Given the description of an element on the screen output the (x, y) to click on. 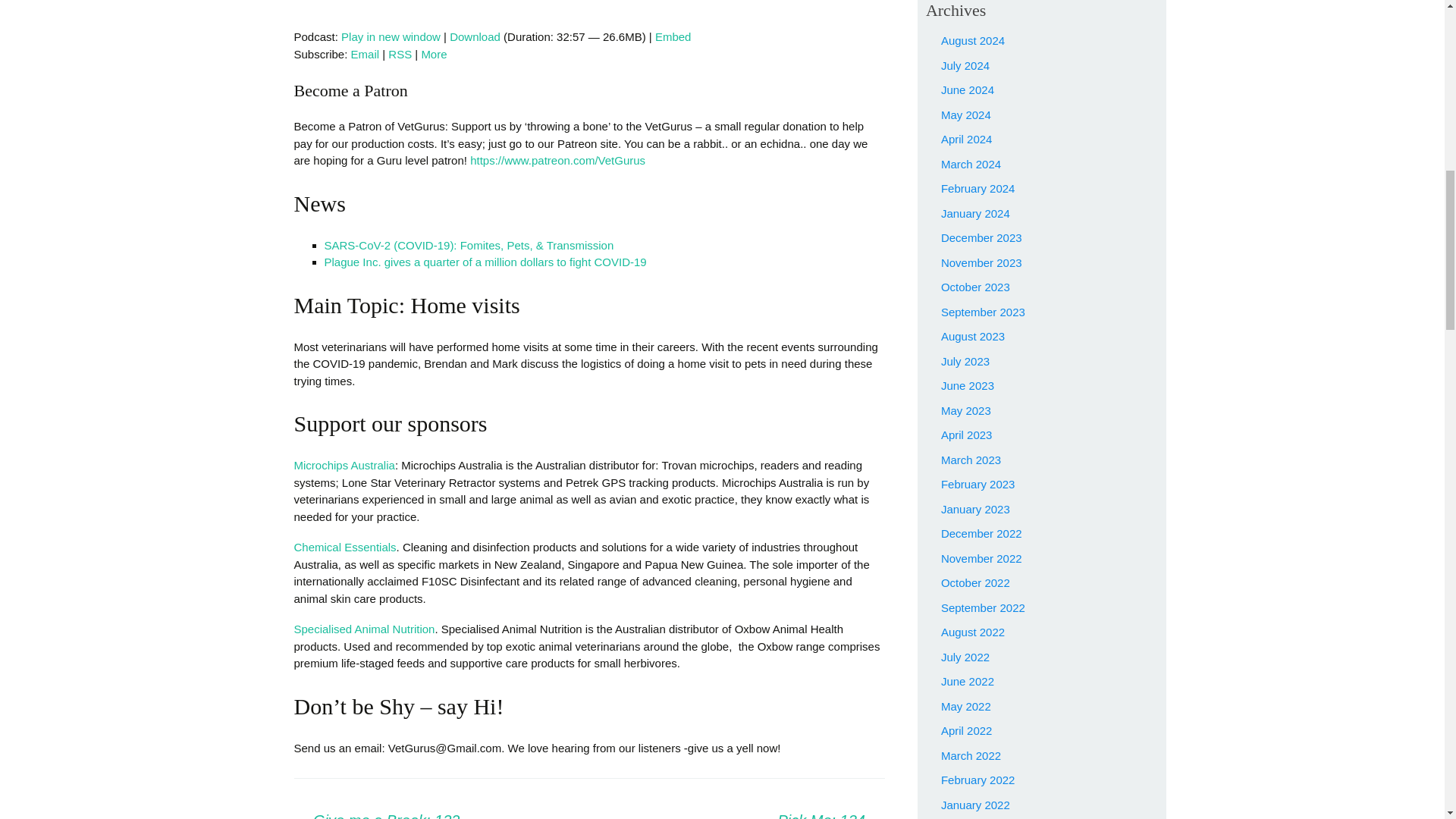
Play in new window (390, 36)
July 2024 (965, 65)
Blubrry Podcast Player (589, 10)
More (433, 53)
Embed (673, 36)
RSS (400, 53)
Download (474, 36)
Download (474, 36)
Play in new window (390, 36)
Subscribe via RSS (400, 53)
